Given the description of an element on the screen output the (x, y) to click on. 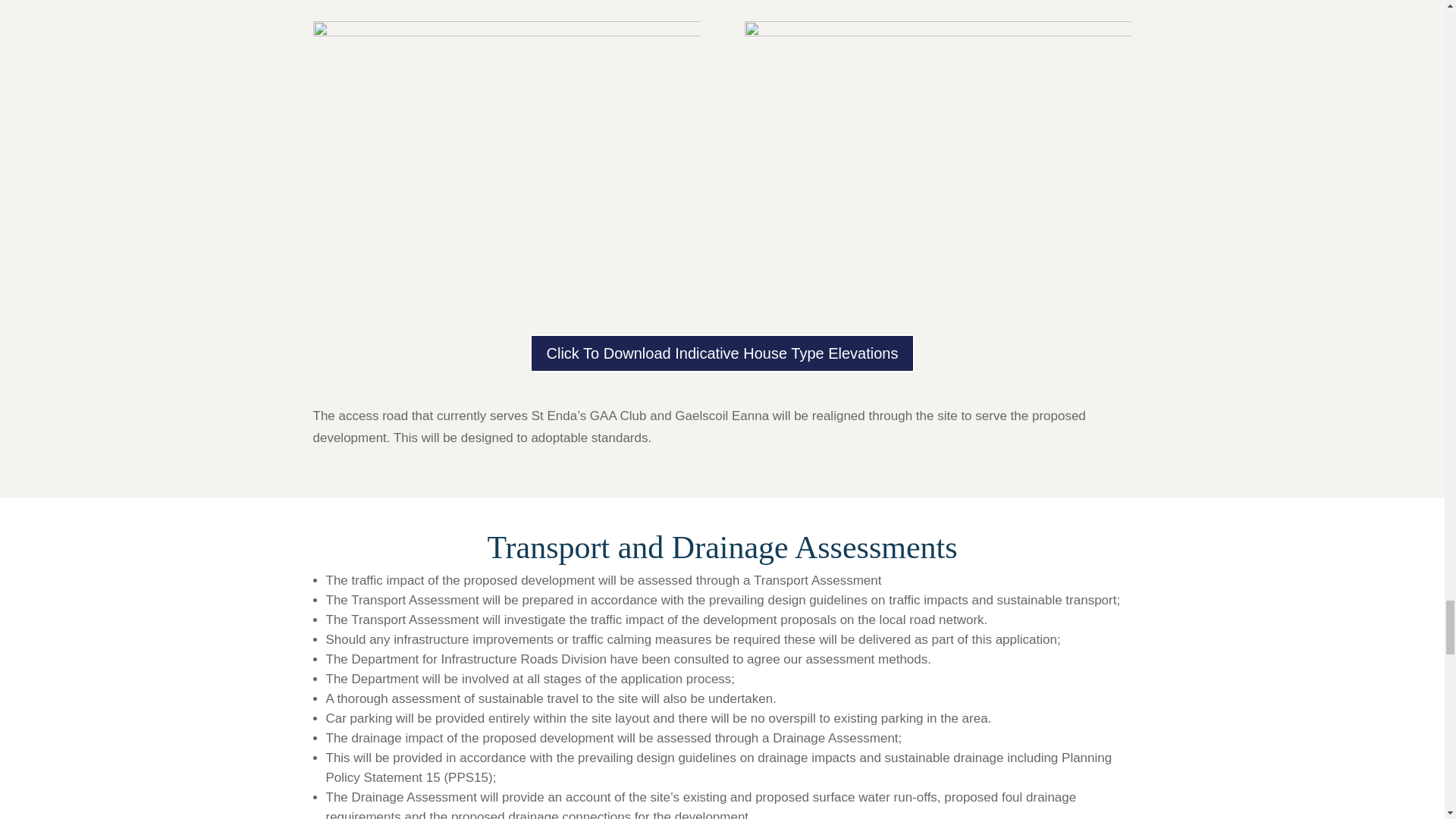
M16 4 Block Elevations 007 (505, 156)
Click To Download Indicative House Type Elevations (722, 353)
PC106 House Types A2 (937, 155)
